Given the description of an element on the screen output the (x, y) to click on. 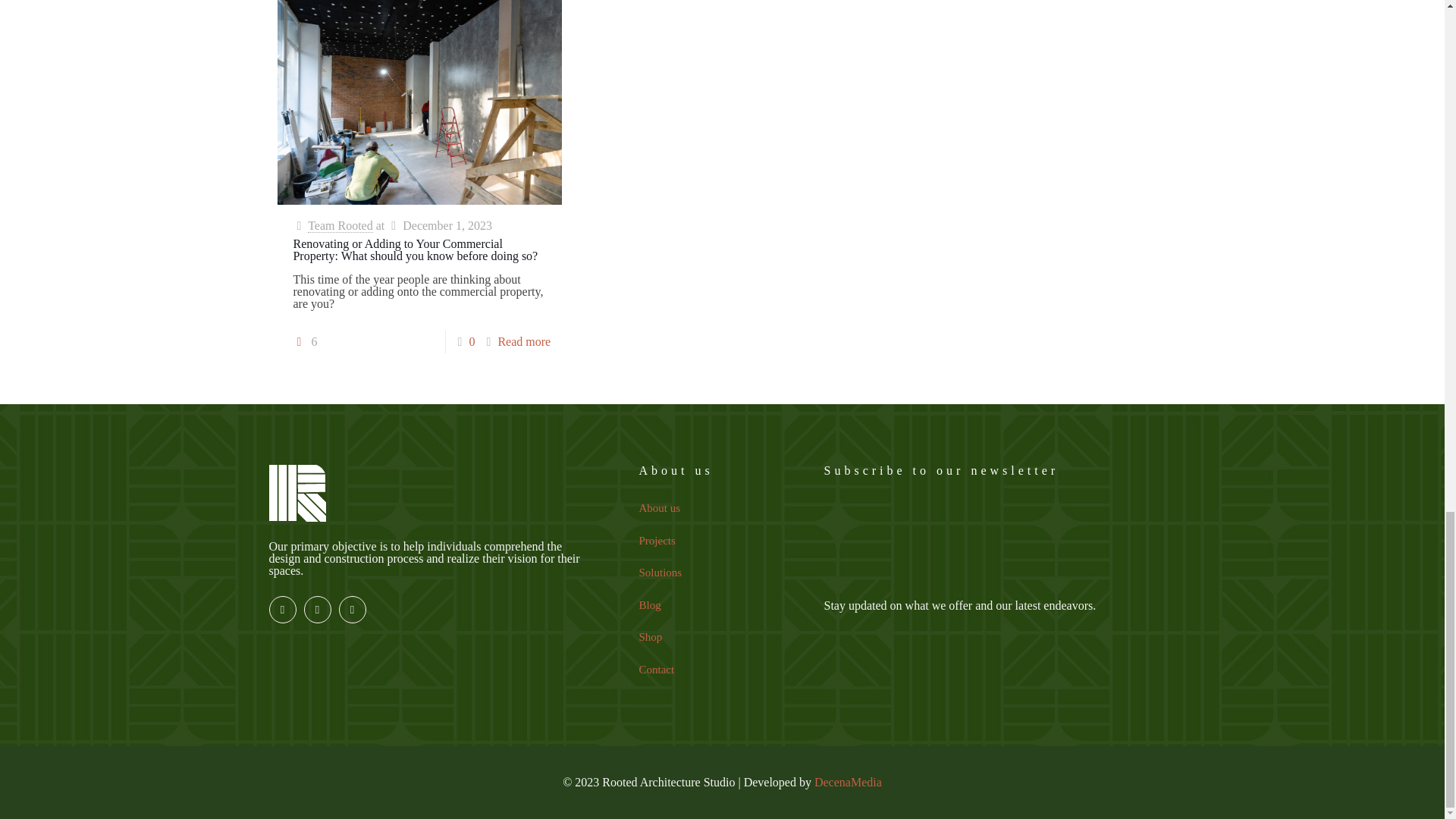
Form 0 (999, 549)
